Given the description of an element on the screen output the (x, y) to click on. 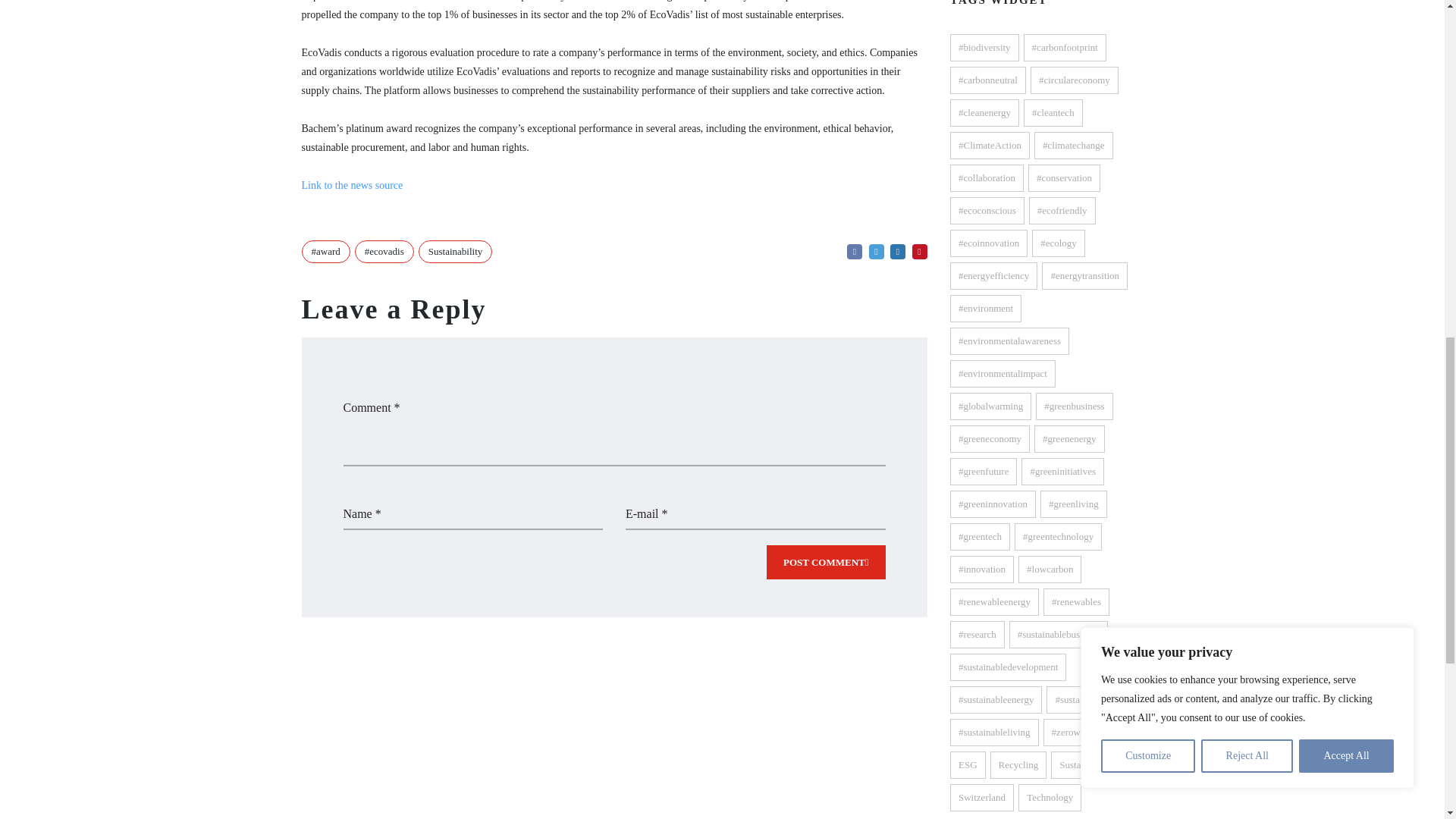
POST COMMENT (826, 562)
Link to the news source (352, 184)
Sustainability (456, 251)
